Given the description of an element on the screen output the (x, y) to click on. 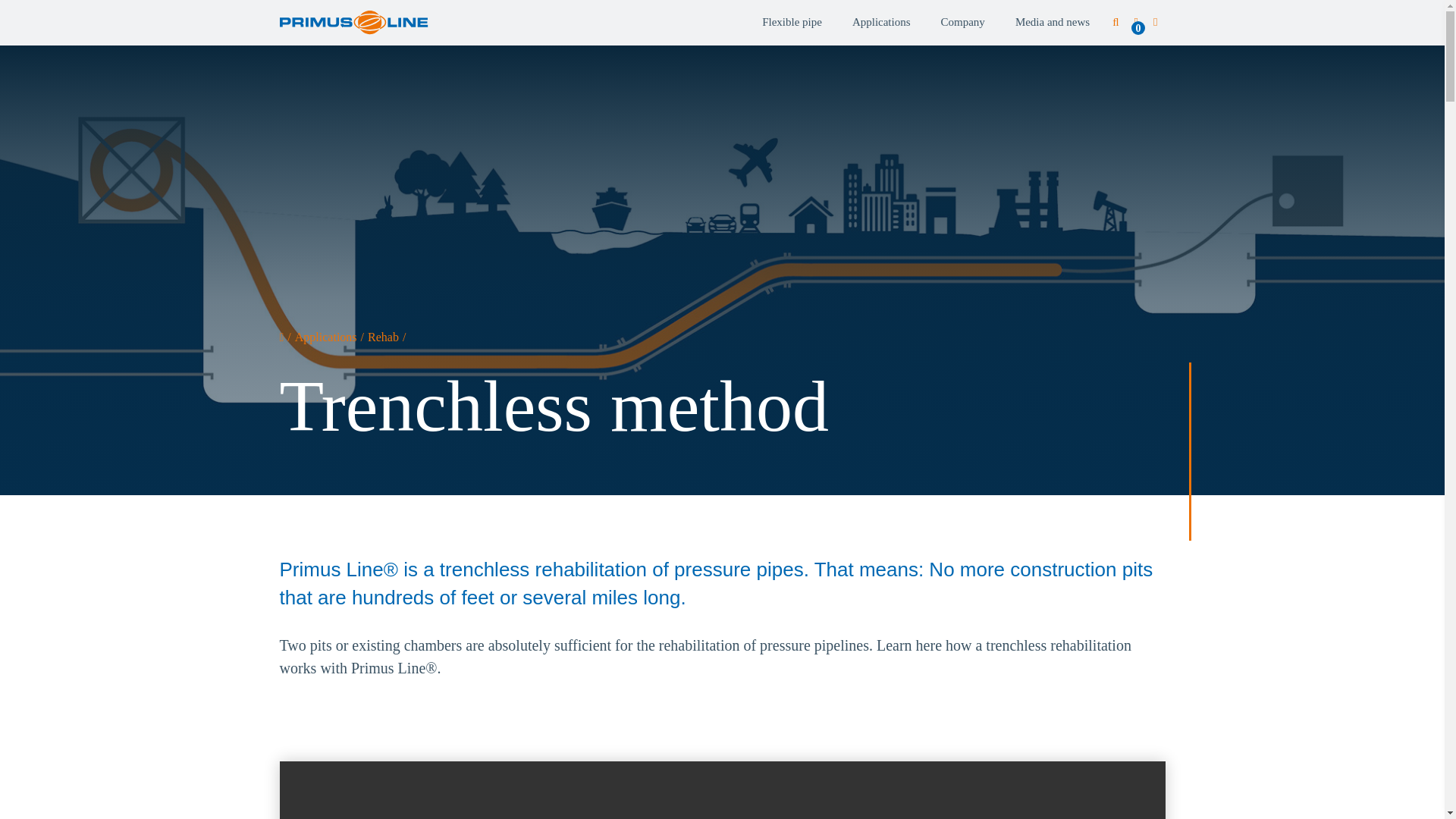
Applications (881, 22)
Flexible pipe (791, 22)
Flexible pipe (791, 22)
